Given the description of an element on the screen output the (x, y) to click on. 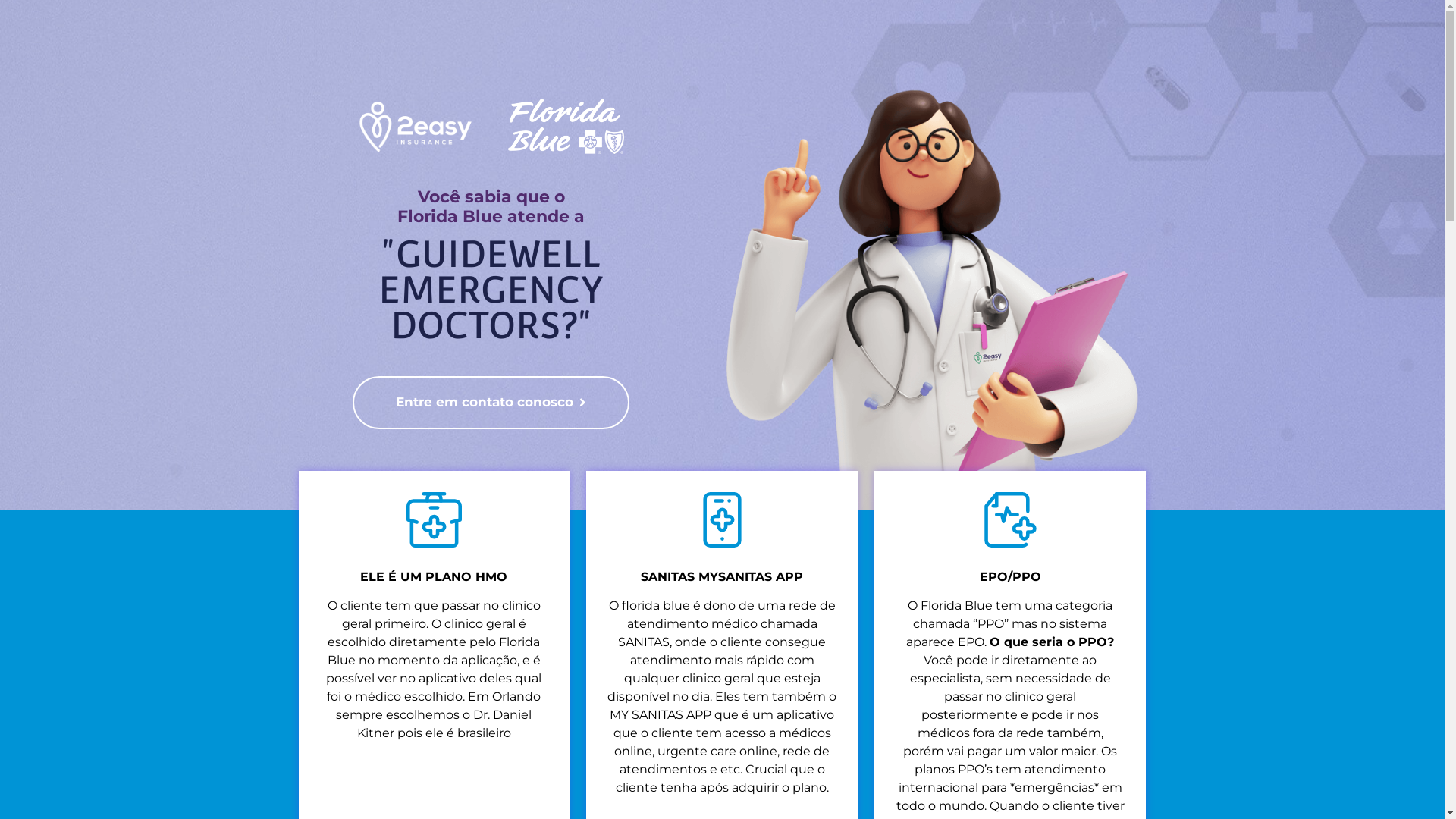
Entre em contato conosco Element type: text (490, 402)
